Given the description of an element on the screen output the (x, y) to click on. 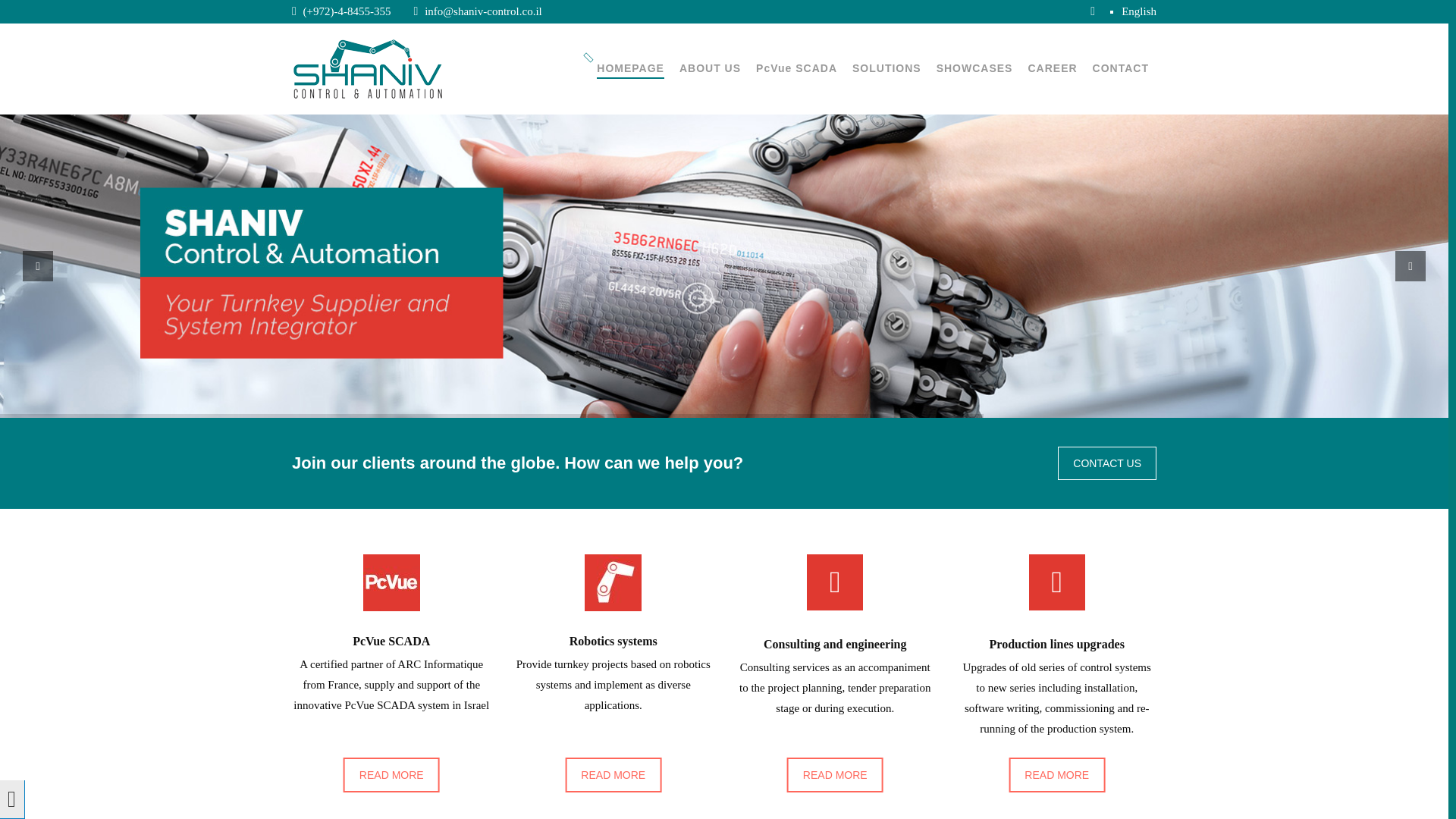
SHOWCASES (974, 68)
English (1138, 10)
robots-icon (613, 582)
pcvue-icon (391, 582)
PcVue SCADA (796, 68)
